Given the description of an element on the screen output the (x, y) to click on. 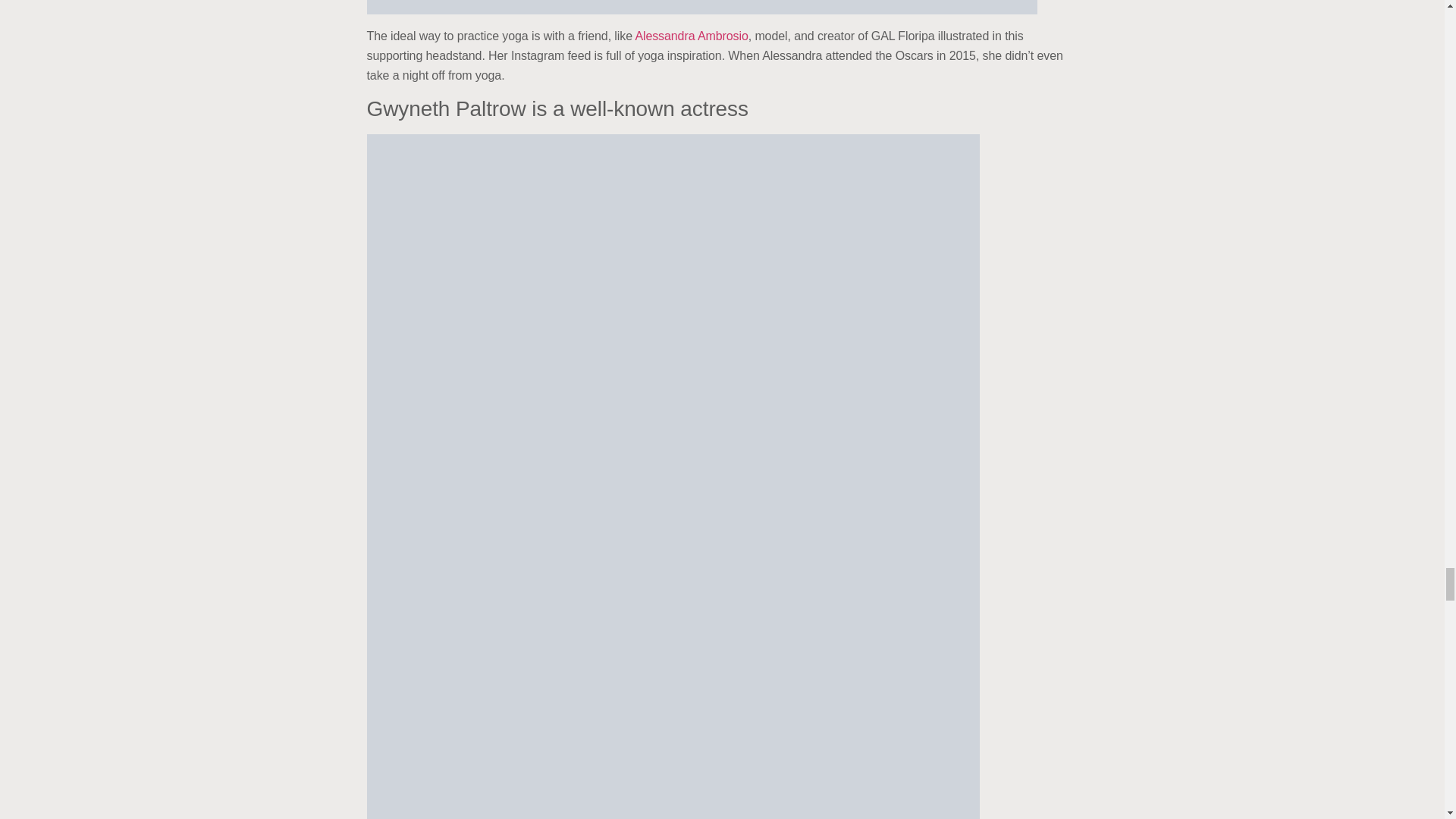
Alessandra Ambrosio (691, 35)
